Given the description of an element on the screen output the (x, y) to click on. 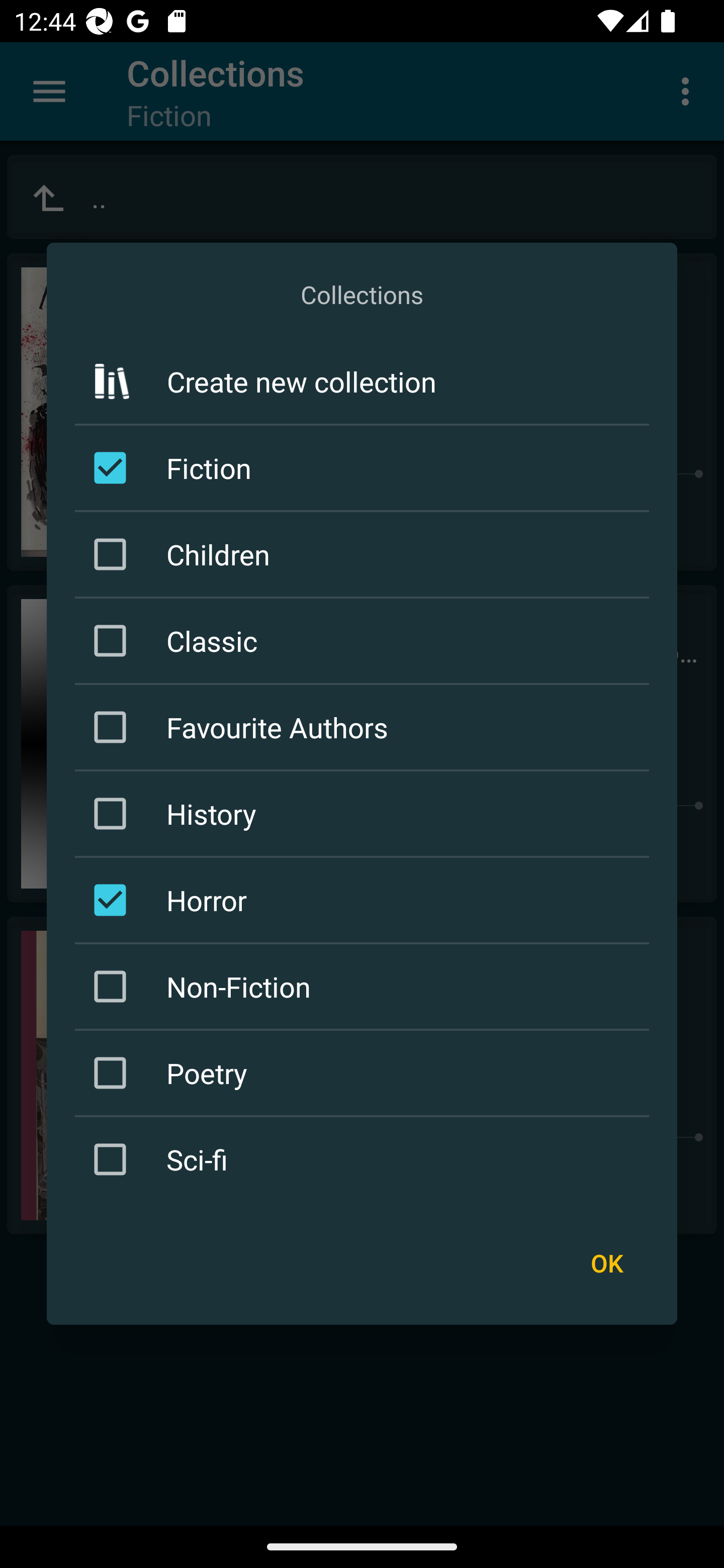
Create new collection (361, 380)
Fiction (365, 466)
Children (365, 553)
Classic (365, 640)
Favourite Authors (365, 727)
History (365, 813)
Horror (365, 899)
Non-Fiction (365, 985)
Poetry (365, 1072)
Sci-fi (365, 1158)
OK (606, 1262)
